Given the description of an element on the screen output the (x, y) to click on. 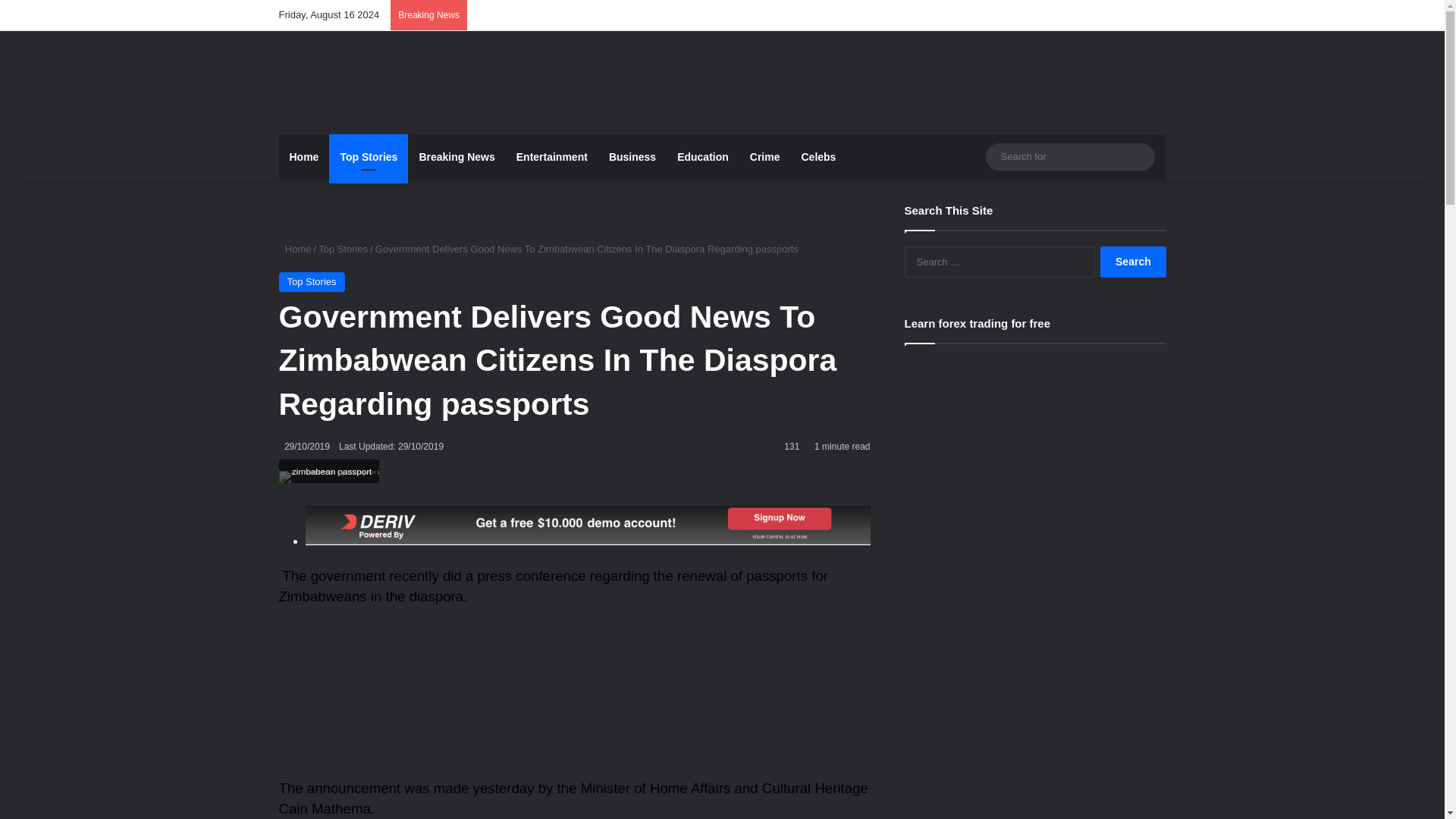
Search for (1069, 156)
Advertisement (574, 699)
Search for (1139, 156)
Top Stories (368, 156)
Advertisement (873, 79)
Top Stories (312, 281)
Search (1133, 261)
Breaking News (456, 156)
Top Stories (343, 248)
Celebs (817, 156)
